Given the description of an element on the screen output the (x, y) to click on. 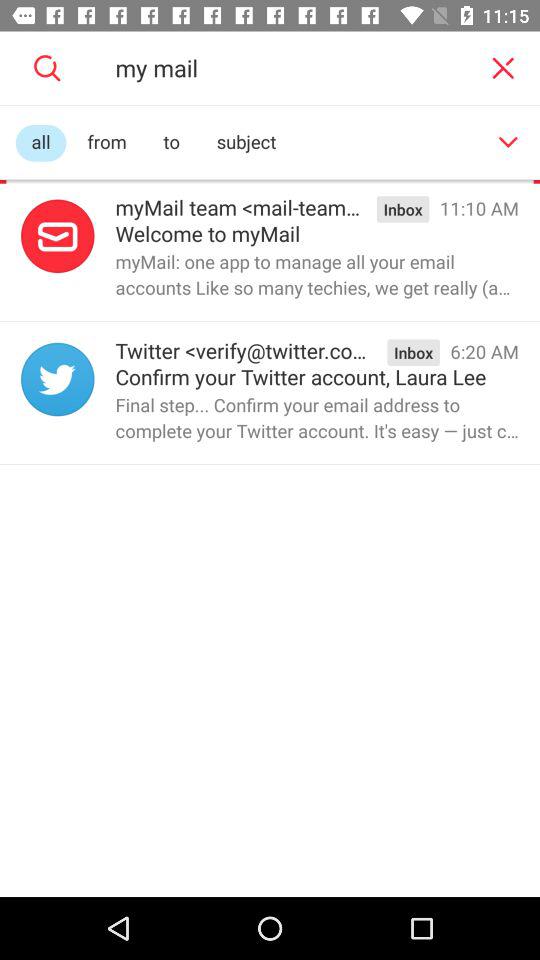
launch subject item (246, 142)
